Given the description of an element on the screen output the (x, y) to click on. 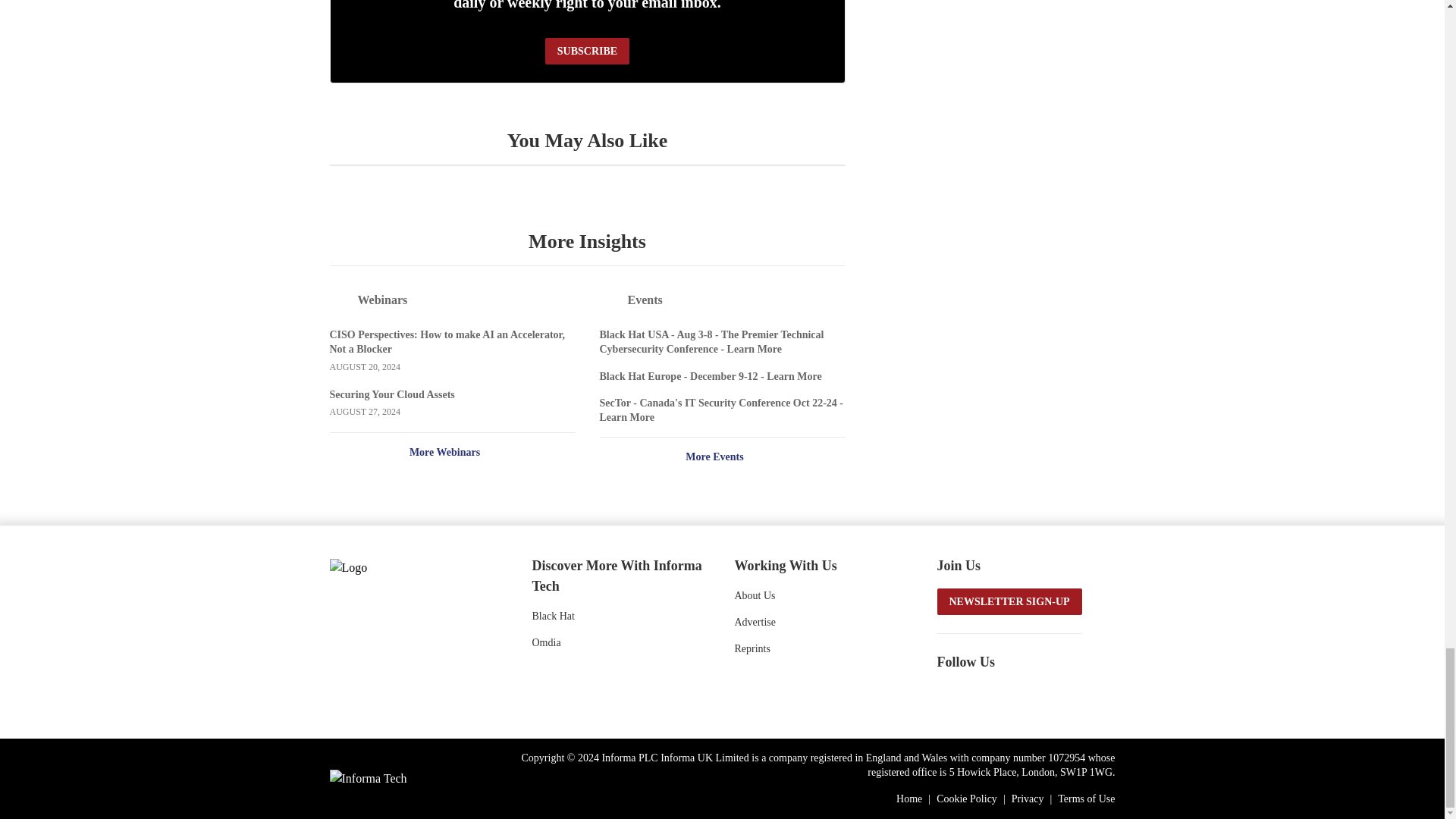
Informa Tech (367, 778)
Logo (410, 566)
